Given the description of an element on the screen output the (x, y) to click on. 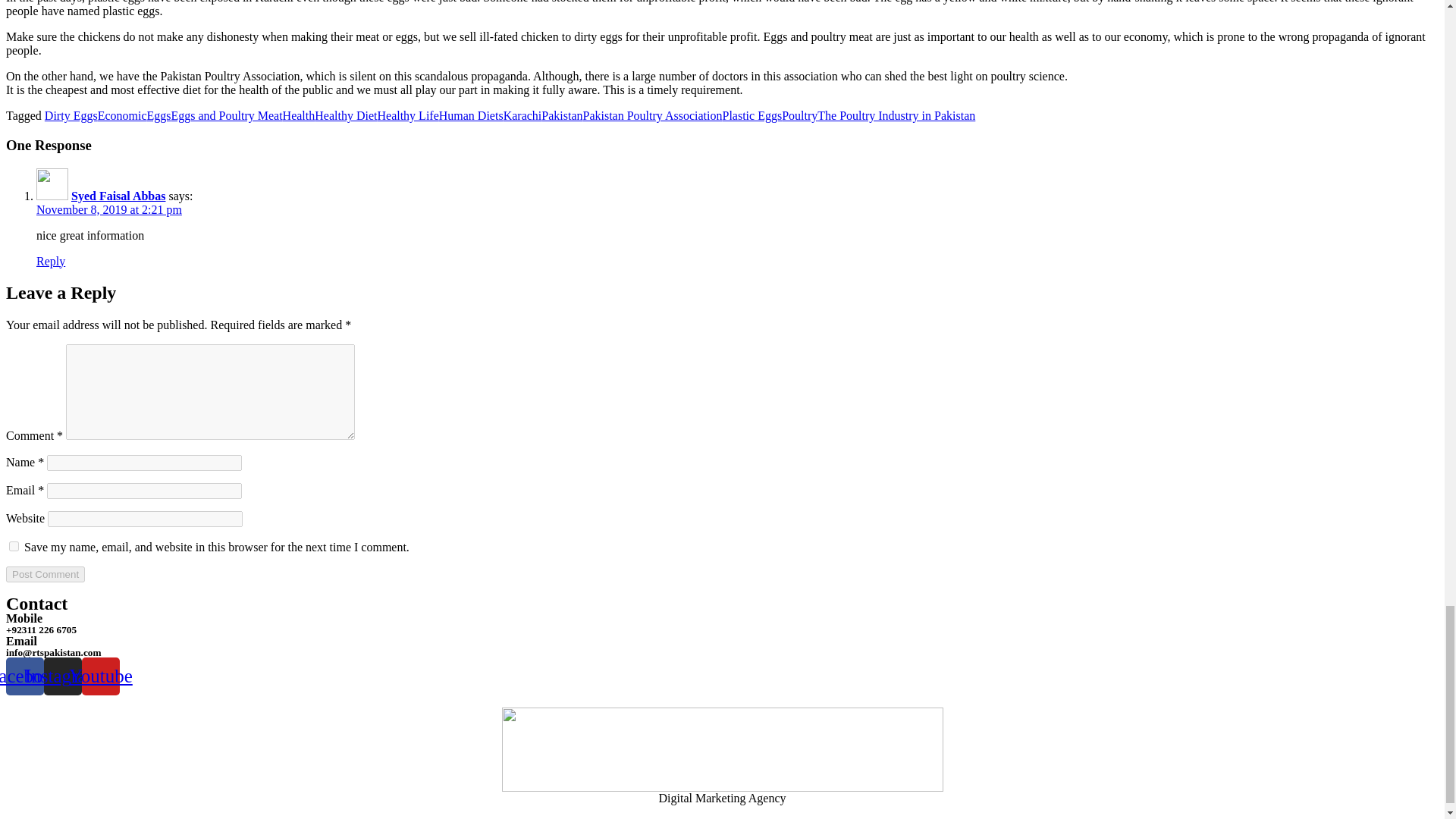
Human Diets (471, 115)
yes (13, 546)
Pakistan Poultry Association (652, 115)
Dirty Eggs (71, 115)
Healthy Diet (345, 115)
Post Comment (44, 574)
Health (298, 115)
Healthy Life (407, 115)
Karachi (522, 115)
Eggs (159, 115)
Eggs and Poultry Meat (226, 115)
Pakistan (561, 115)
Economic (122, 115)
